Given the description of an element on the screen output the (x, y) to click on. 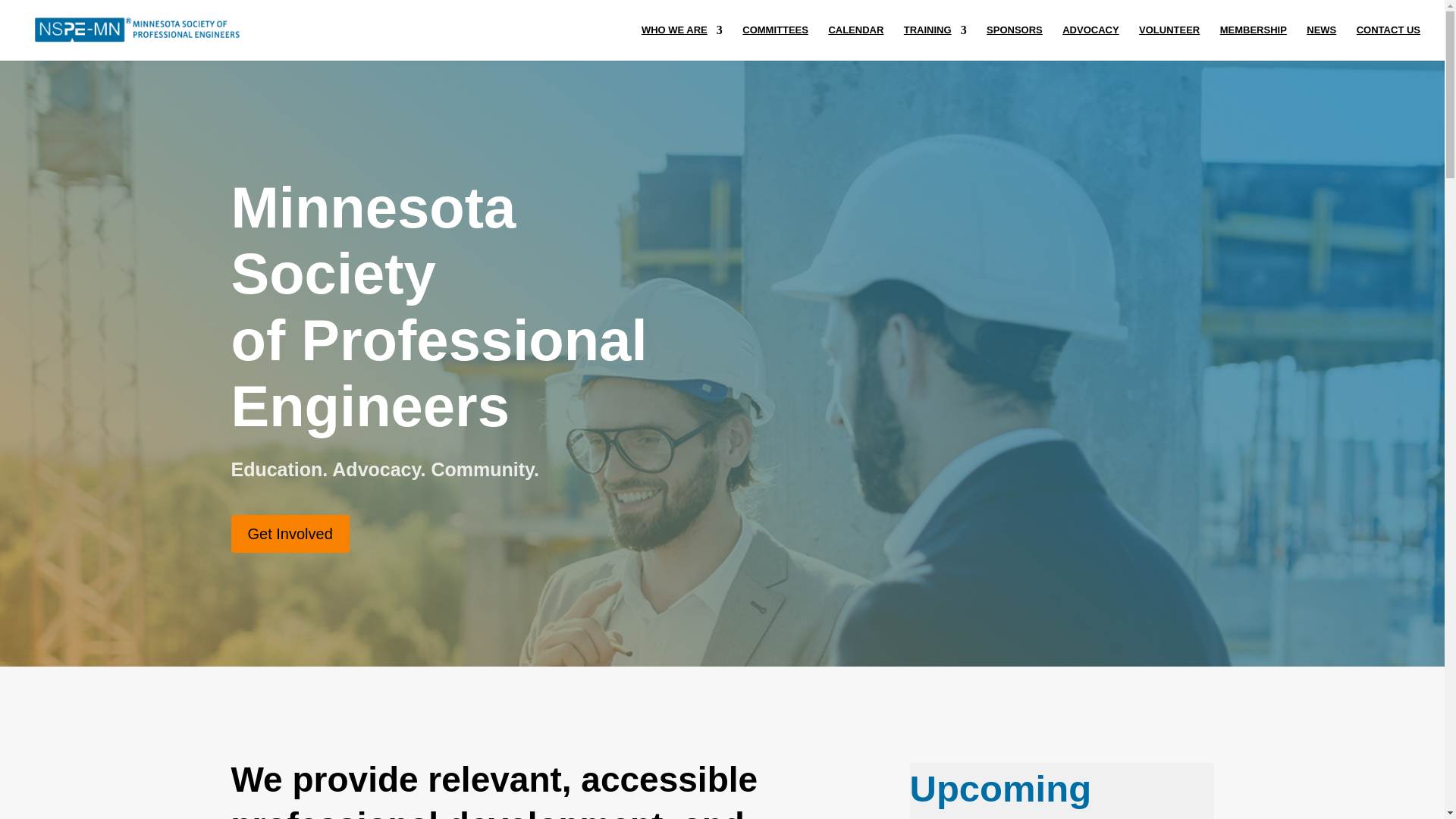
SPONSORS (1014, 42)
MEMBERSHIP (1253, 42)
WHO WE ARE (682, 42)
TRAINING (935, 42)
Get Involved (289, 533)
COMMITTEES (775, 42)
CONTACT US (1388, 42)
CALENDAR (855, 42)
ADVOCACY (1090, 42)
VOLUNTEER (1168, 42)
